Given the description of an element on the screen output the (x, y) to click on. 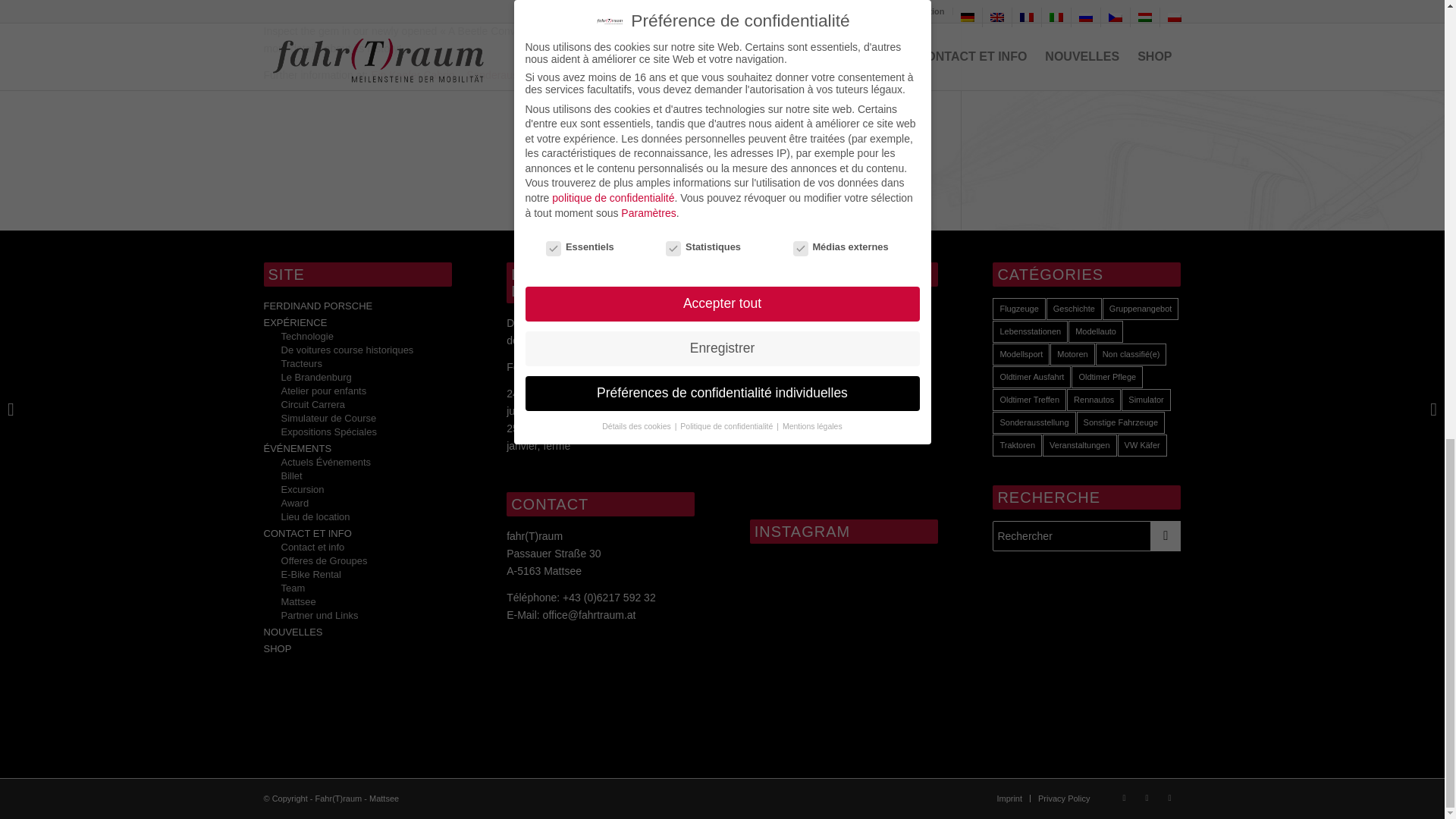
Facebook (1124, 797)
Youtube (1146, 797)
